Given the description of an element on the screen output the (x, y) to click on. 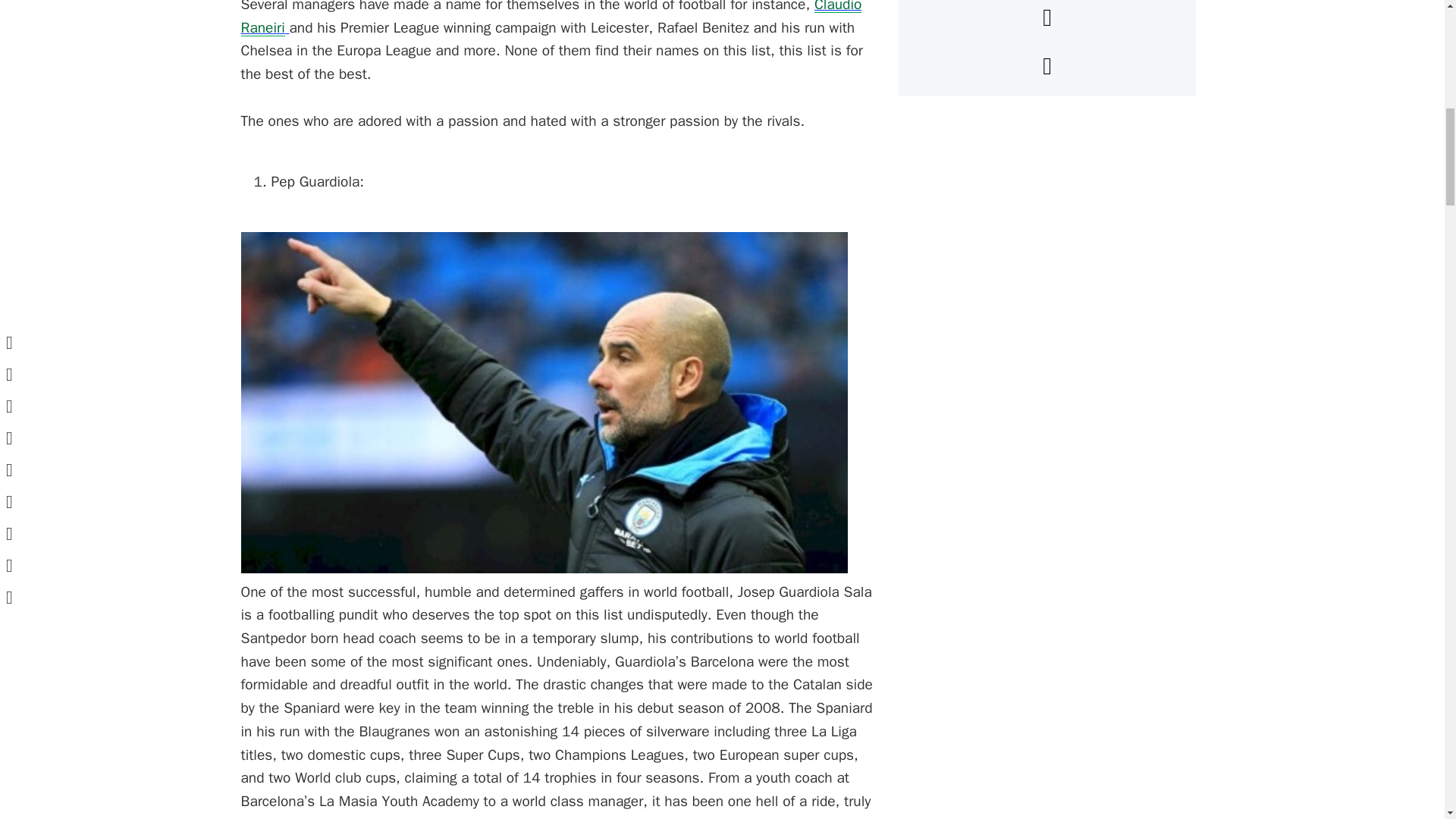
Claudio Raneiri (551, 18)
